Given the description of an element on the screen output the (x, y) to click on. 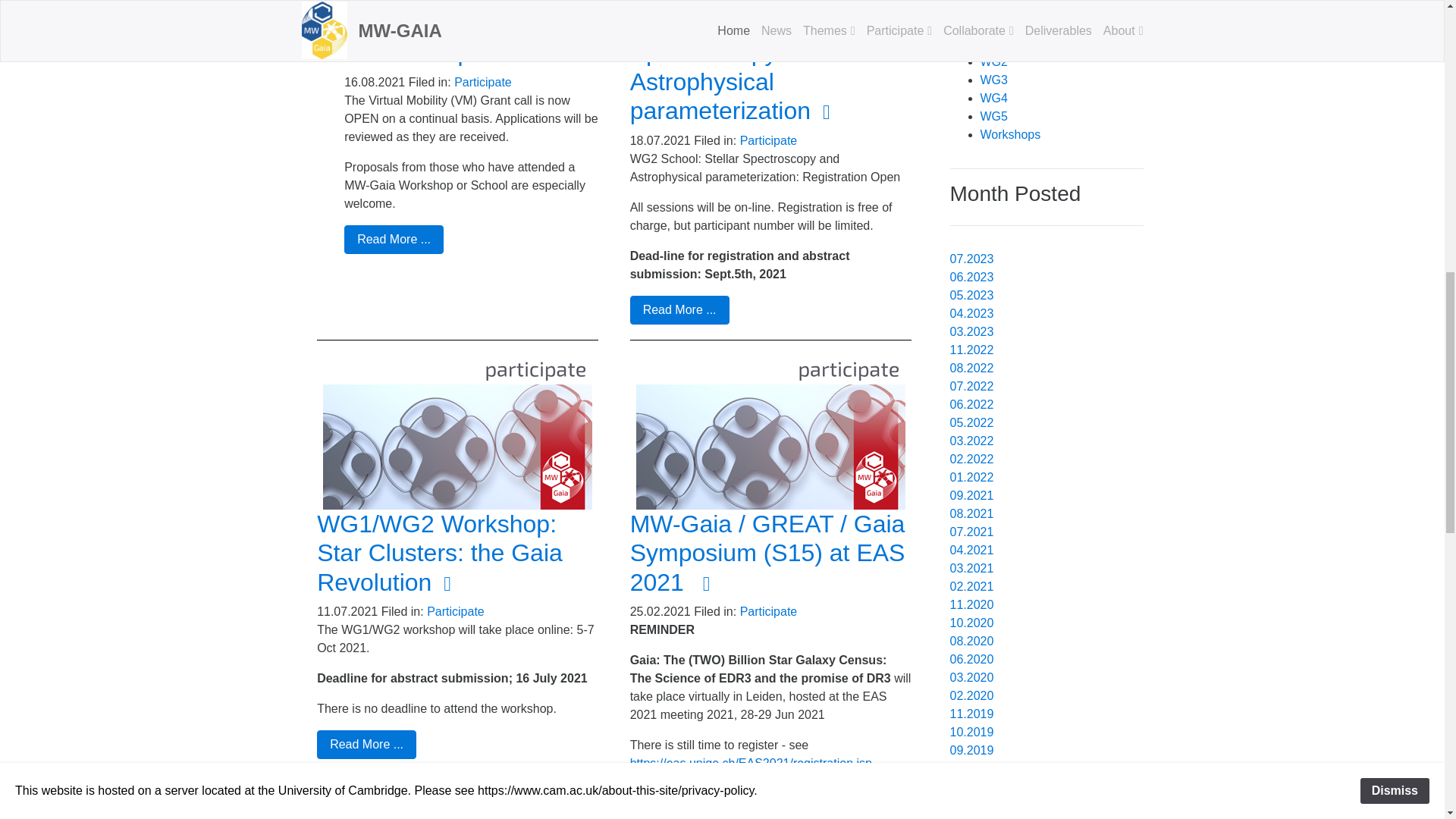
Read More ... (393, 239)
Read More ... (679, 309)
Virtual Mobility Grant Call now open (456, 37)
Participate (768, 140)
Participate (483, 82)
